Given the description of an element on the screen output the (x, y) to click on. 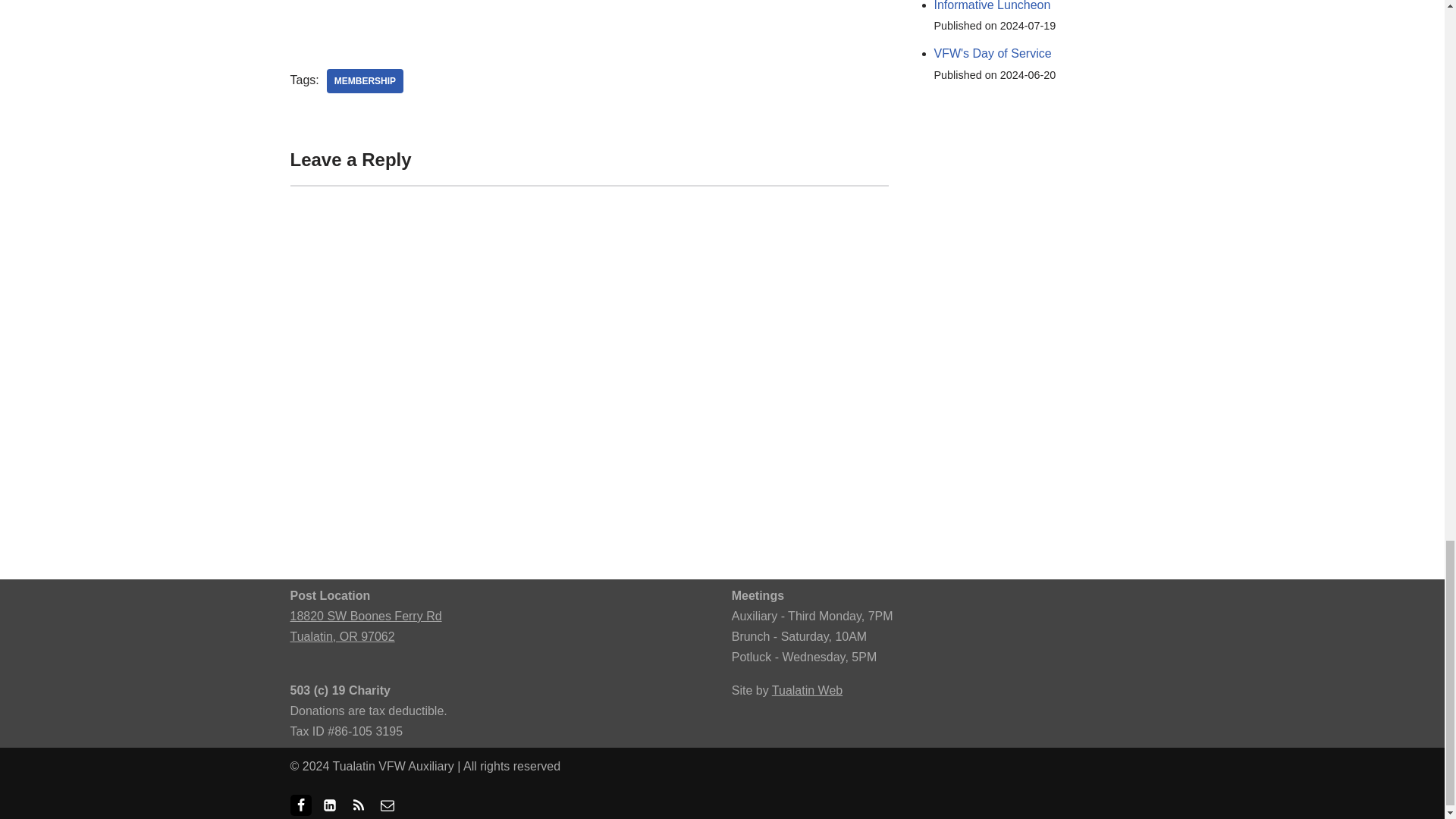
Email (386, 804)
LinkedIn (328, 804)
RSS (357, 804)
Facebook (300, 804)
membership (364, 80)
